Given the description of an element on the screen output the (x, y) to click on. 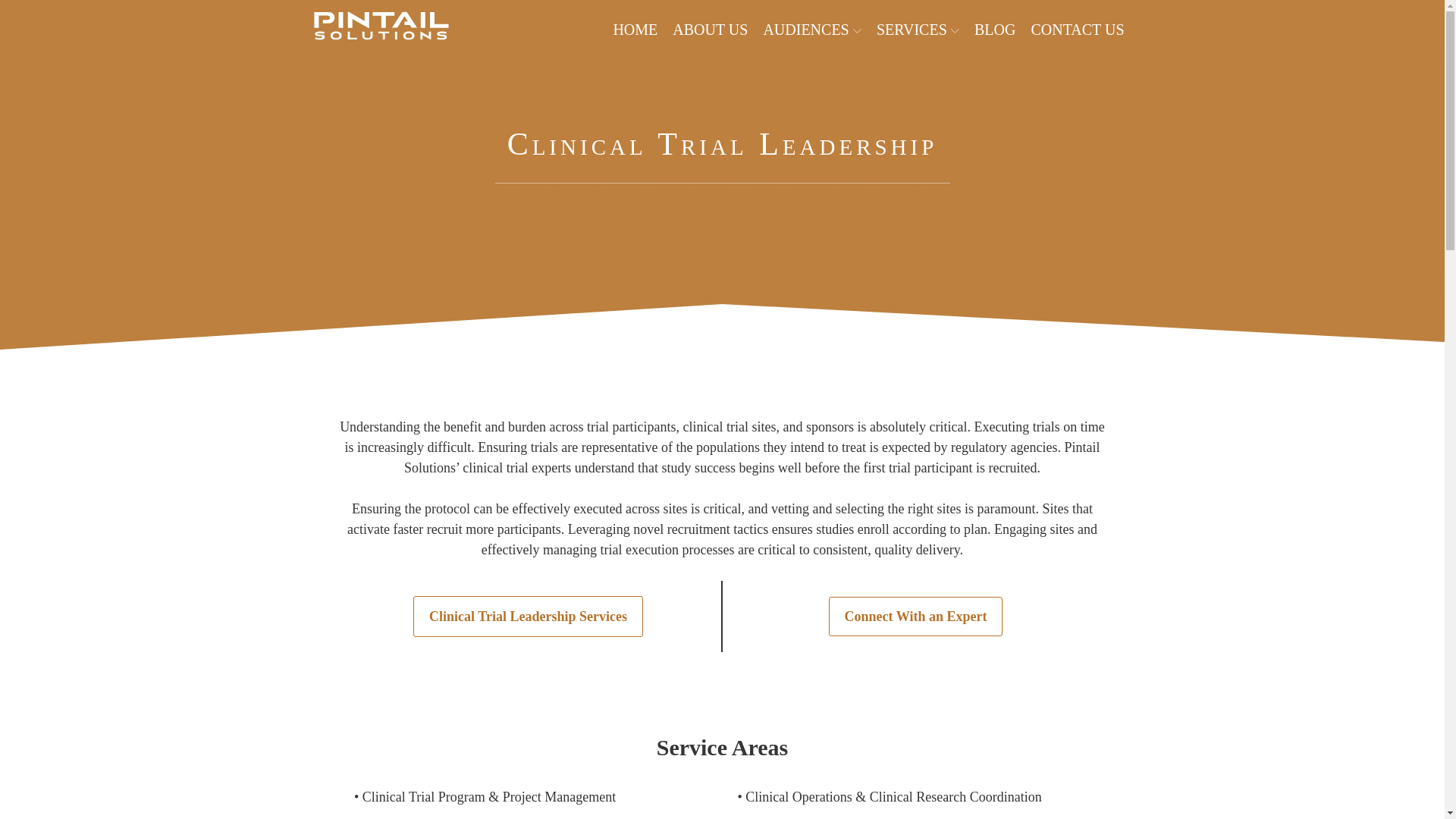
AUDIENCES (811, 29)
ABOUT US (709, 29)
Connect With an Expert (915, 617)
Clinical Trial Leadership Services (528, 616)
SERVICES (917, 29)
BLOG (995, 29)
CONTACT US (1076, 29)
Pintail Home (380, 29)
HOME (634, 29)
